Given the description of an element on the screen output the (x, y) to click on. 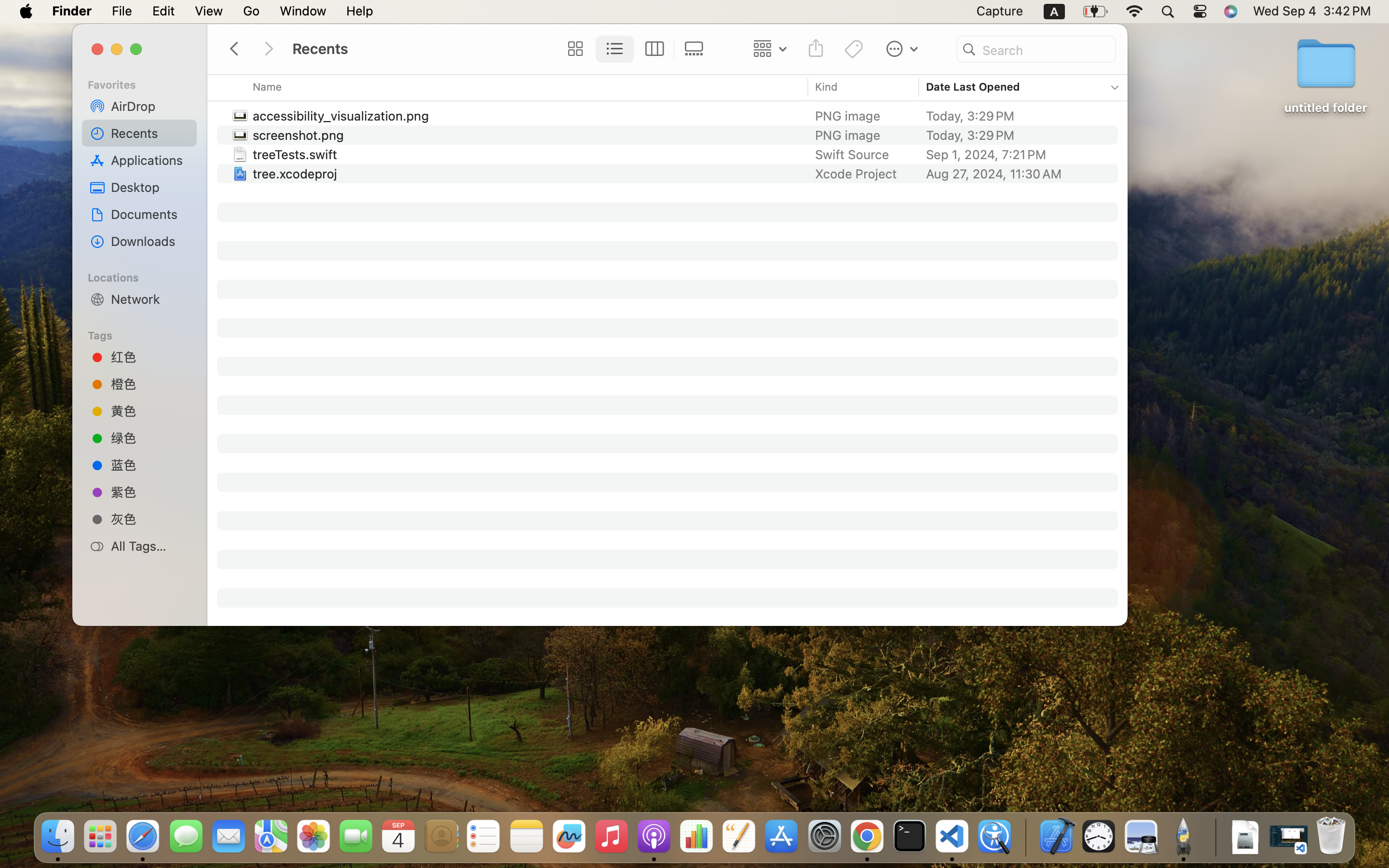
绿色 Element type: AXStaticText (149, 437)
灰色 Element type: AXStaticText (149, 518)
PNG image Element type: AXStaticText (849, 134)
Xcode Project Element type: AXStaticText (855, 173)
0.4285714328289032 Element type: AXDockItem (1024, 836)
